Given the description of an element on the screen output the (x, y) to click on. 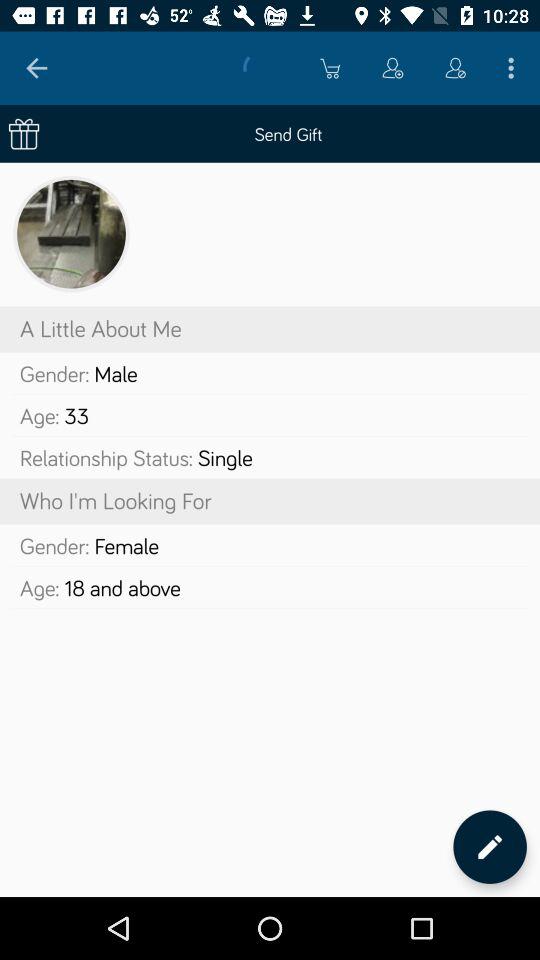
swipe to the send gift item (270, 133)
